Given the description of an element on the screen output the (x, y) to click on. 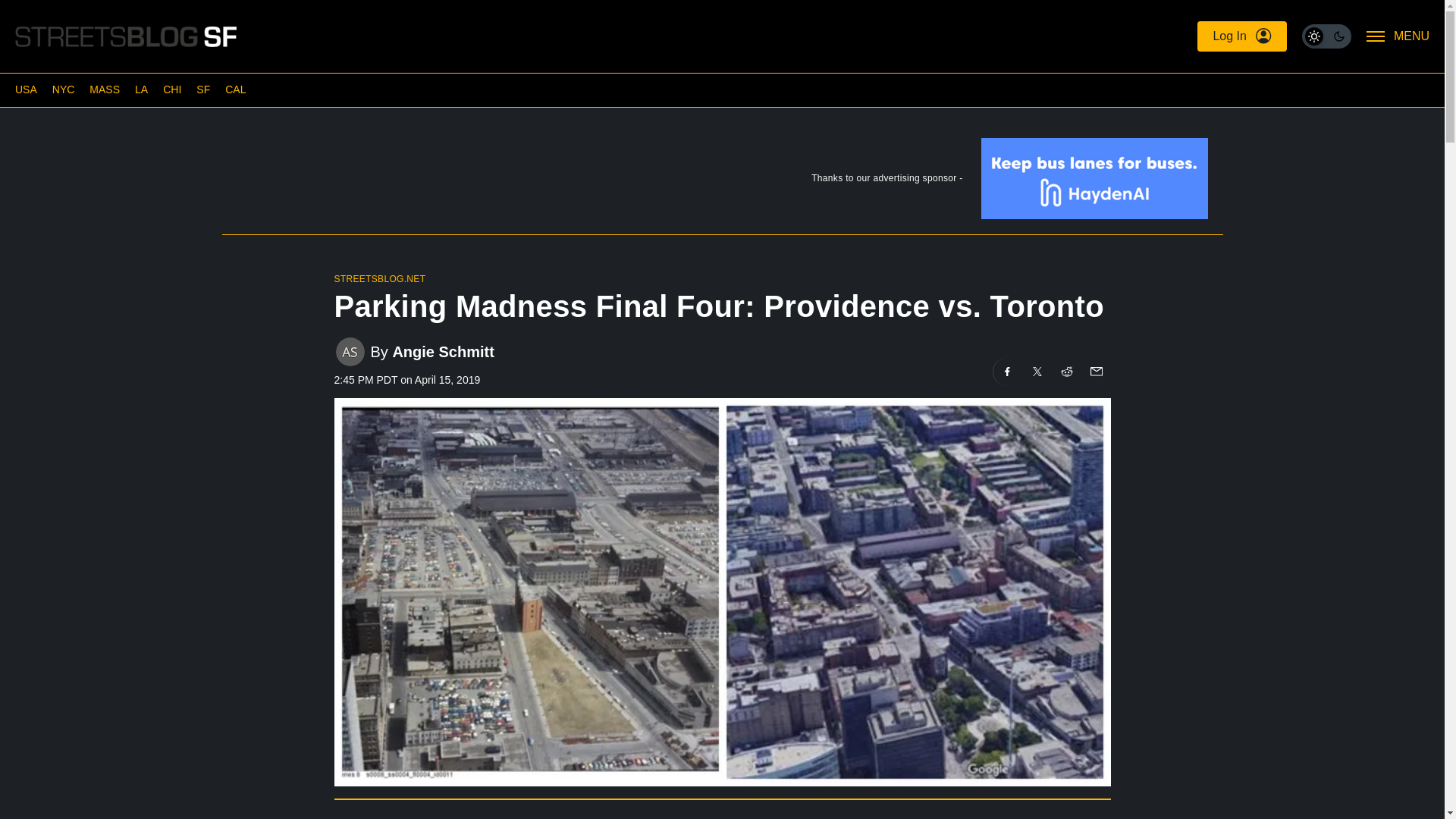
CHI (171, 89)
CAL (235, 89)
MENU (1398, 36)
STREETSBLOG.NET (379, 278)
Angie Schmitt (442, 351)
Share on Facebook (1007, 371)
Share on Reddit (1066, 371)
MASS (103, 89)
Thanks to our advertising sponsor - (721, 181)
Share on Email (1095, 371)
NYC (63, 89)
USA (25, 89)
Log In (1240, 36)
